Given the description of an element on the screen output the (x, y) to click on. 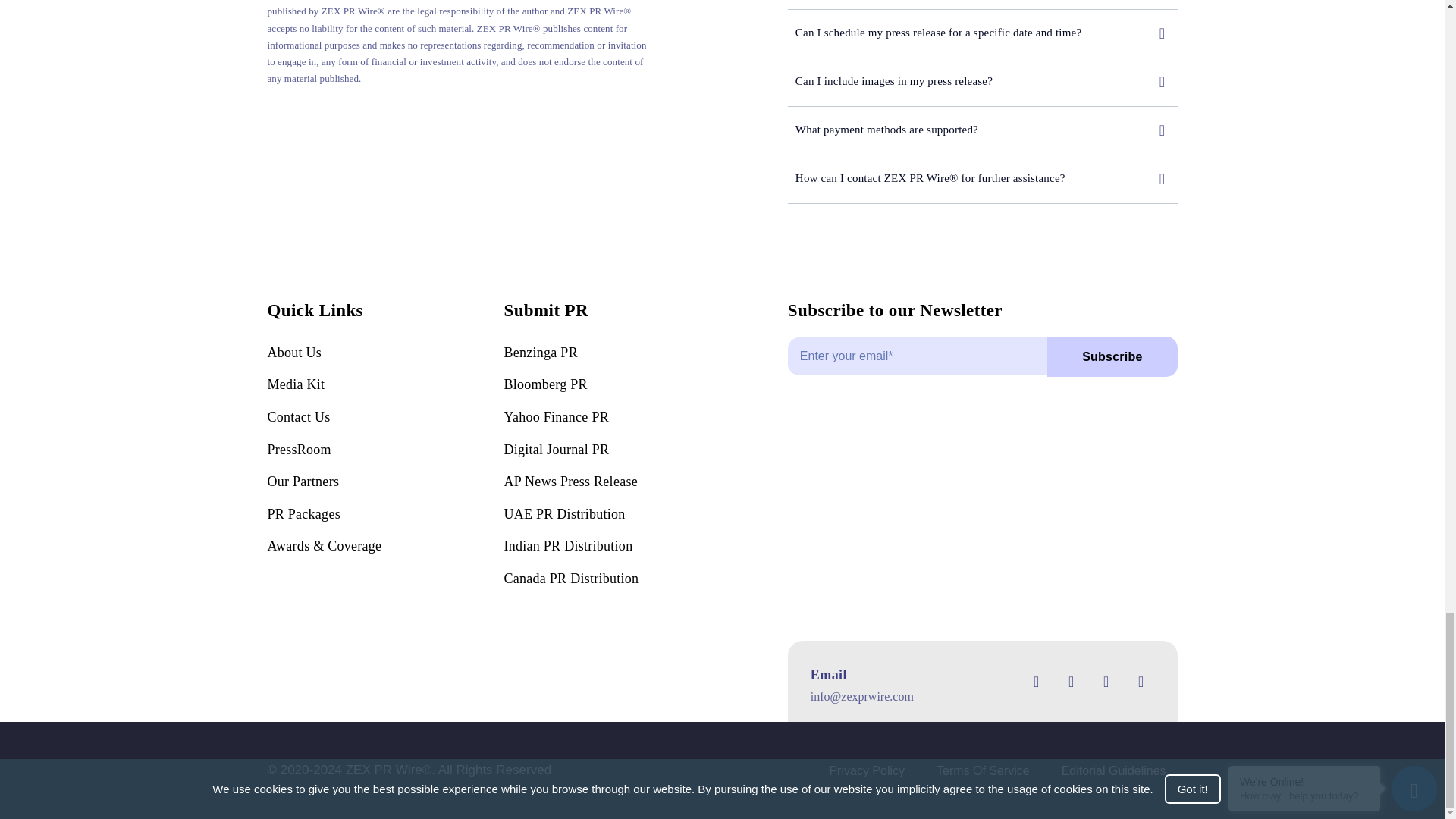
Instagram (1106, 681)
Subscribe (982, 364)
X (1071, 681)
LinkedIn (1140, 681)
Facebook (1036, 681)
